Given the description of an element on the screen output the (x, y) to click on. 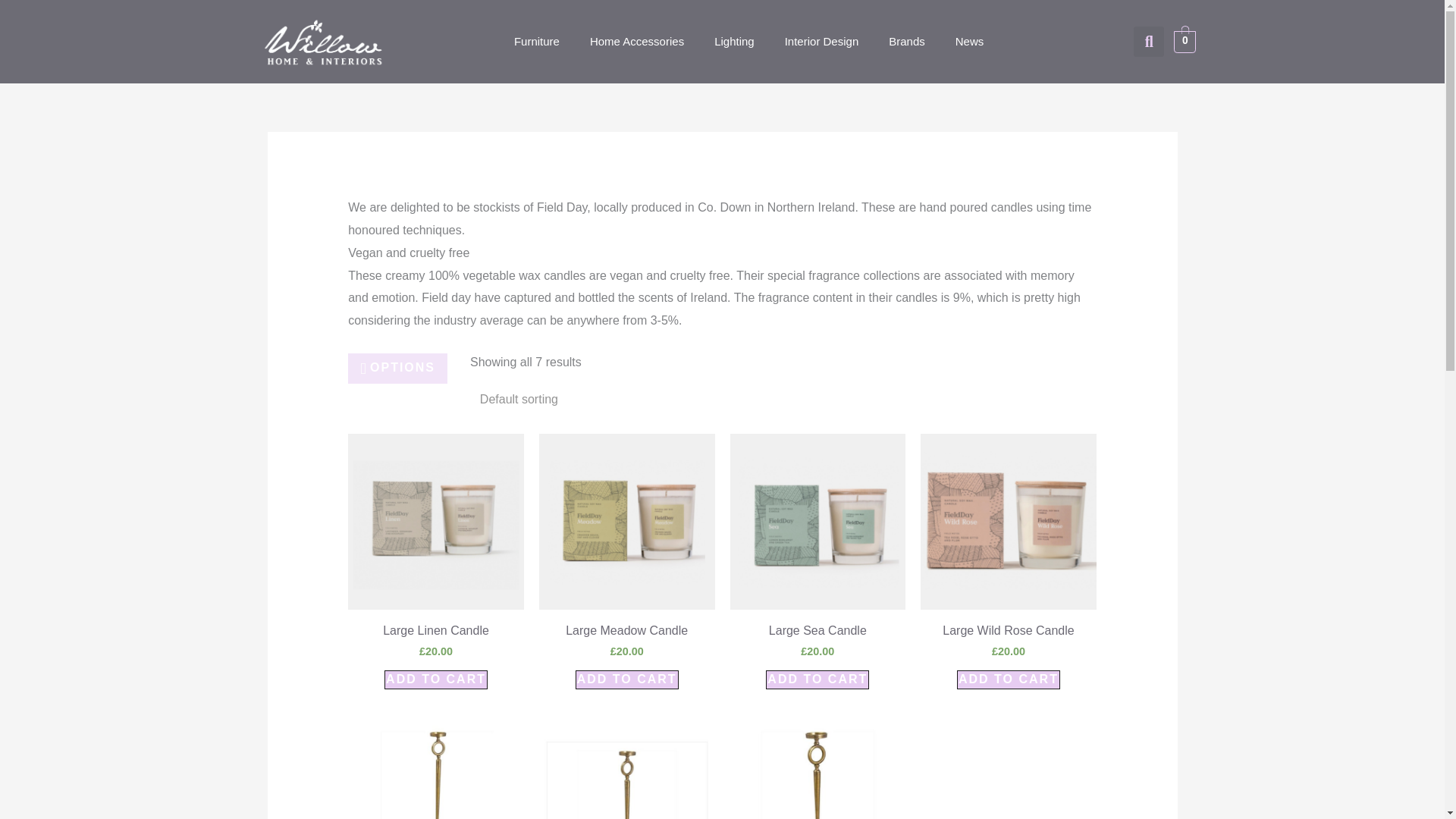
View your shopping cart (1184, 41)
Furniture (537, 41)
Lighting (734, 41)
Home Accessories (636, 41)
Interior Design (822, 41)
